Given the description of an element on the screen output the (x, y) to click on. 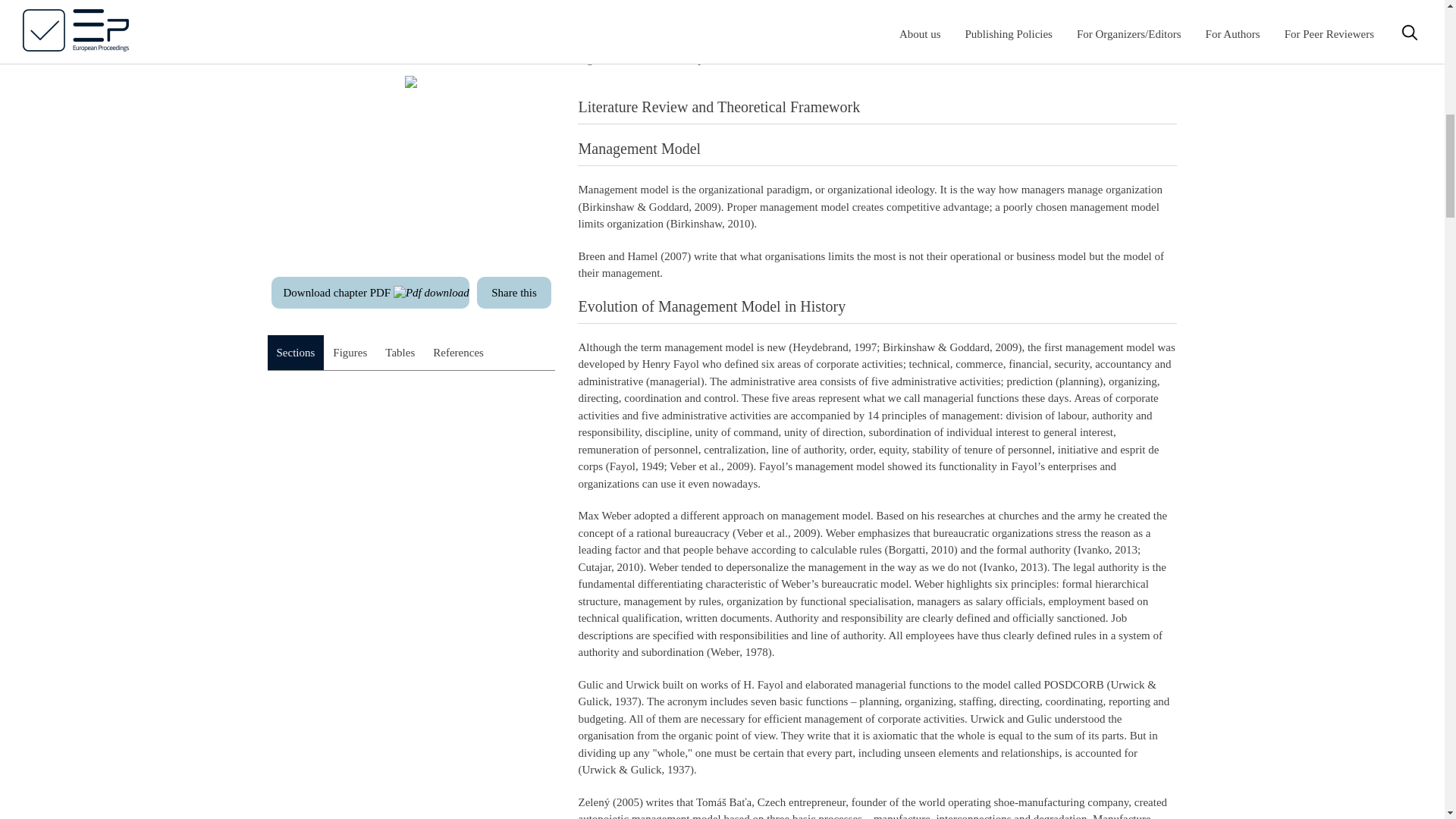
Ivanko, 2013 (1107, 549)
2007 (675, 256)
Birkinshaw, 2010 (710, 223)
Cutajar, 2010 (608, 567)
Borgatti, 2010 (920, 549)
Fayol, 1949 (636, 466)
Heydebrand, 1997 (834, 346)
on (261, 732)
Veber et al., 2009 (707, 466)
Veber et al., 2009 (775, 532)
